Given the description of an element on the screen output the (x, y) to click on. 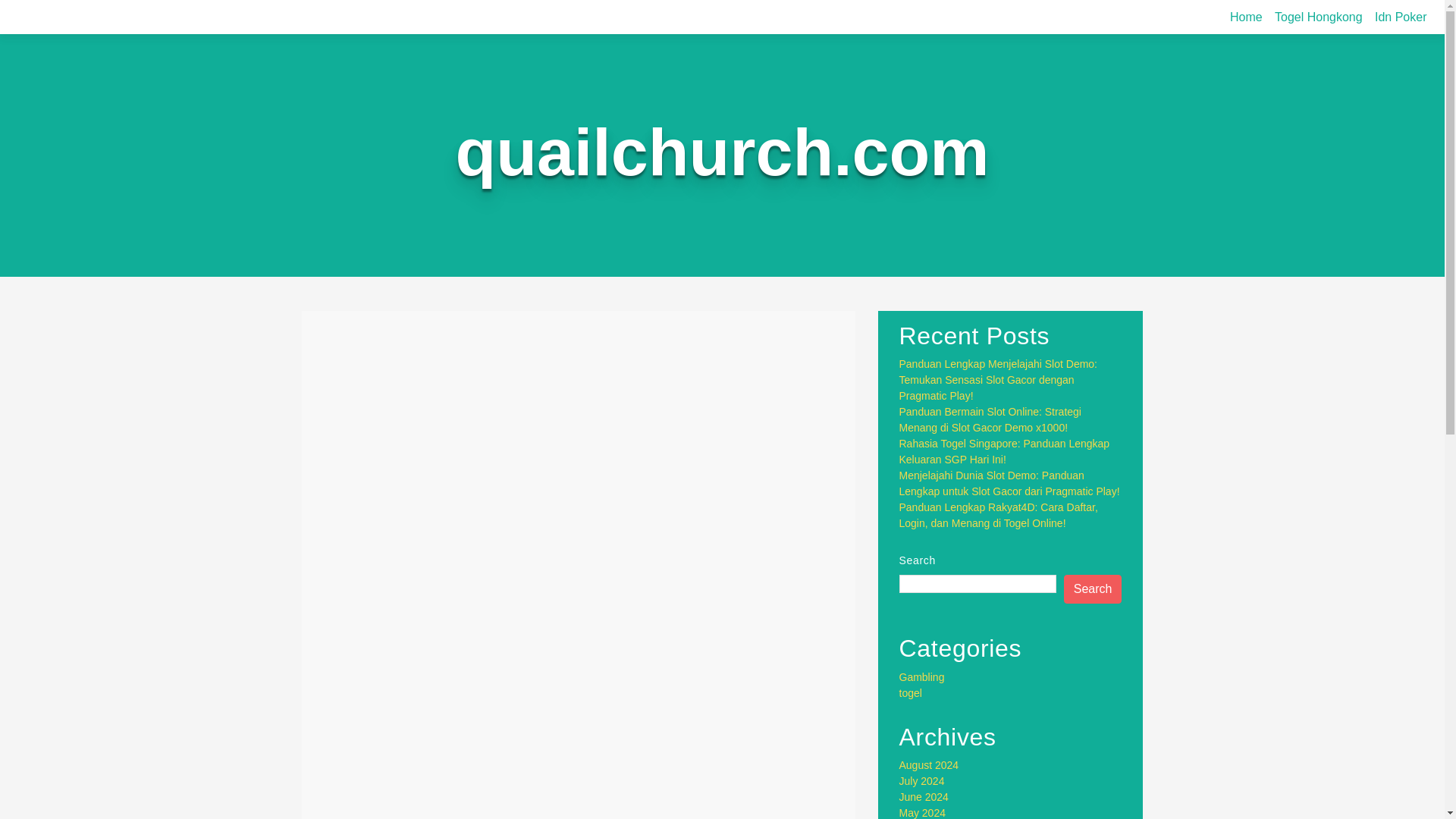
Togel Hongkong (1318, 16)
Gambling (921, 676)
togel (910, 693)
Idn Poker (1400, 16)
Togel Hongkong (1318, 16)
Home (1246, 16)
May 2024 (921, 812)
admin (483, 386)
June 2024 (924, 797)
Home (1246, 16)
Idn Poker (1400, 16)
